Given the description of an element on the screen output the (x, y) to click on. 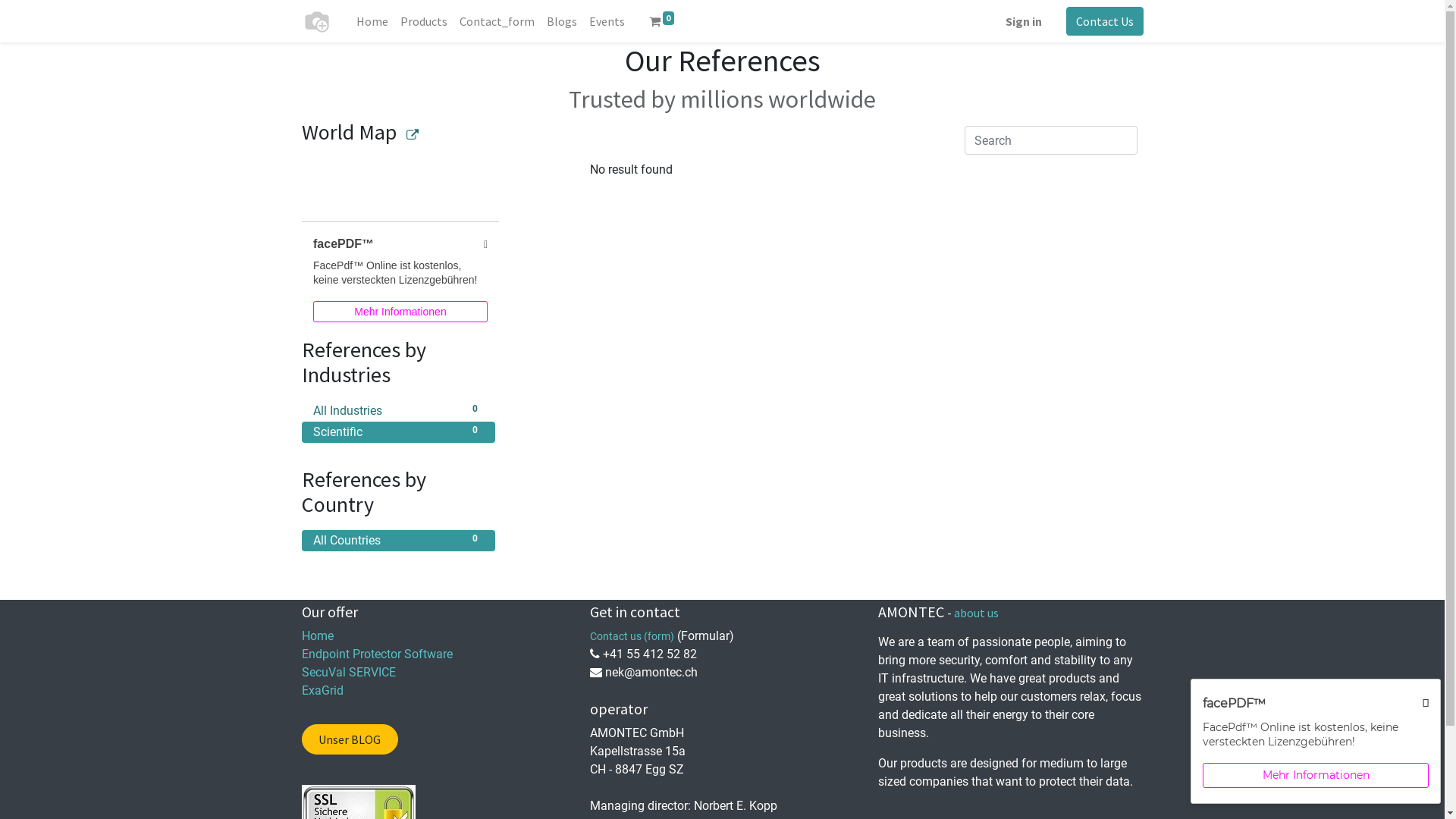
Mehr Informationen Element type: text (1315, 774)
0
Scientific Element type: text (398, 431)
ExaGrid Element type: text (322, 690)
Home Element type: text (372, 21)
0
All Countries Element type: text (398, 540)
AMONTEC Element type: hover (316, 21)
0 Element type: text (661, 21)
Unser BLOG Element type: text (349, 739)
Products Element type: text (423, 21)
Home Element type: text (317, 635)
0
All Industries Element type: text (398, 410)
Endpoint Protector Software Element type: text (376, 653)
about us Element type: text (975, 612)
Contact us (form) Element type: text (631, 635)
External link Element type: hover (412, 134)
Sign in Element type: text (1023, 21)
Events Element type: text (606, 21)
Contact_form Element type: text (496, 21)
Blogs Element type: text (560, 21)
SecuVal SERVICE Element type: text (348, 672)
Contact Us Element type: text (1104, 20)
